Given the description of an element on the screen output the (x, y) to click on. 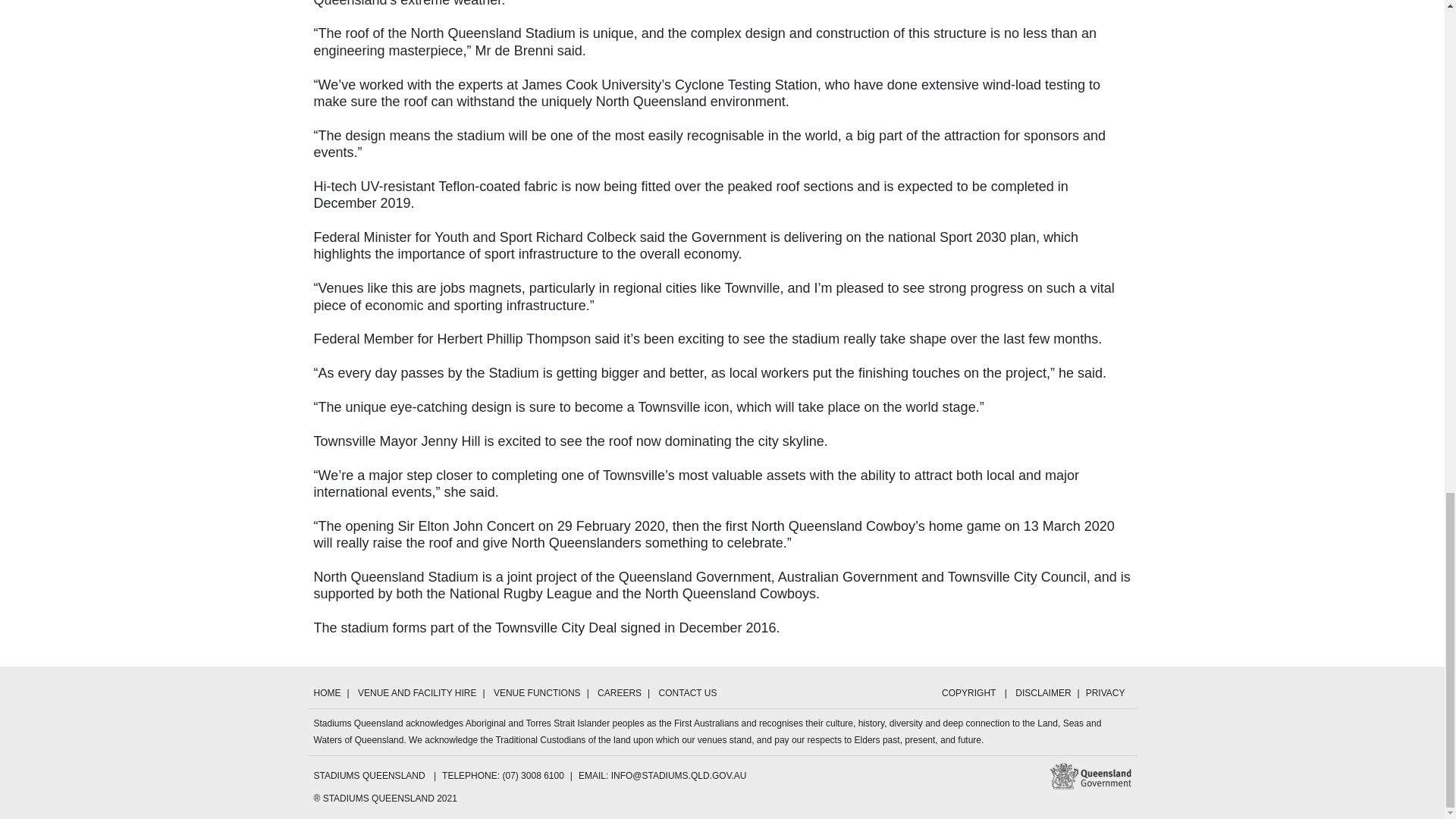
DISCLAIMER (1043, 692)
CAREERS (619, 692)
COPYRIGHT (968, 692)
STADIUMS QUEENSLAND (373, 775)
VENUE AND FACILITY HIRE (417, 692)
CONTACT US (687, 692)
VENUE FUNCTIONS (536, 692)
HOME (330, 692)
PRIVACY (1105, 692)
